Given the description of an element on the screen output the (x, y) to click on. 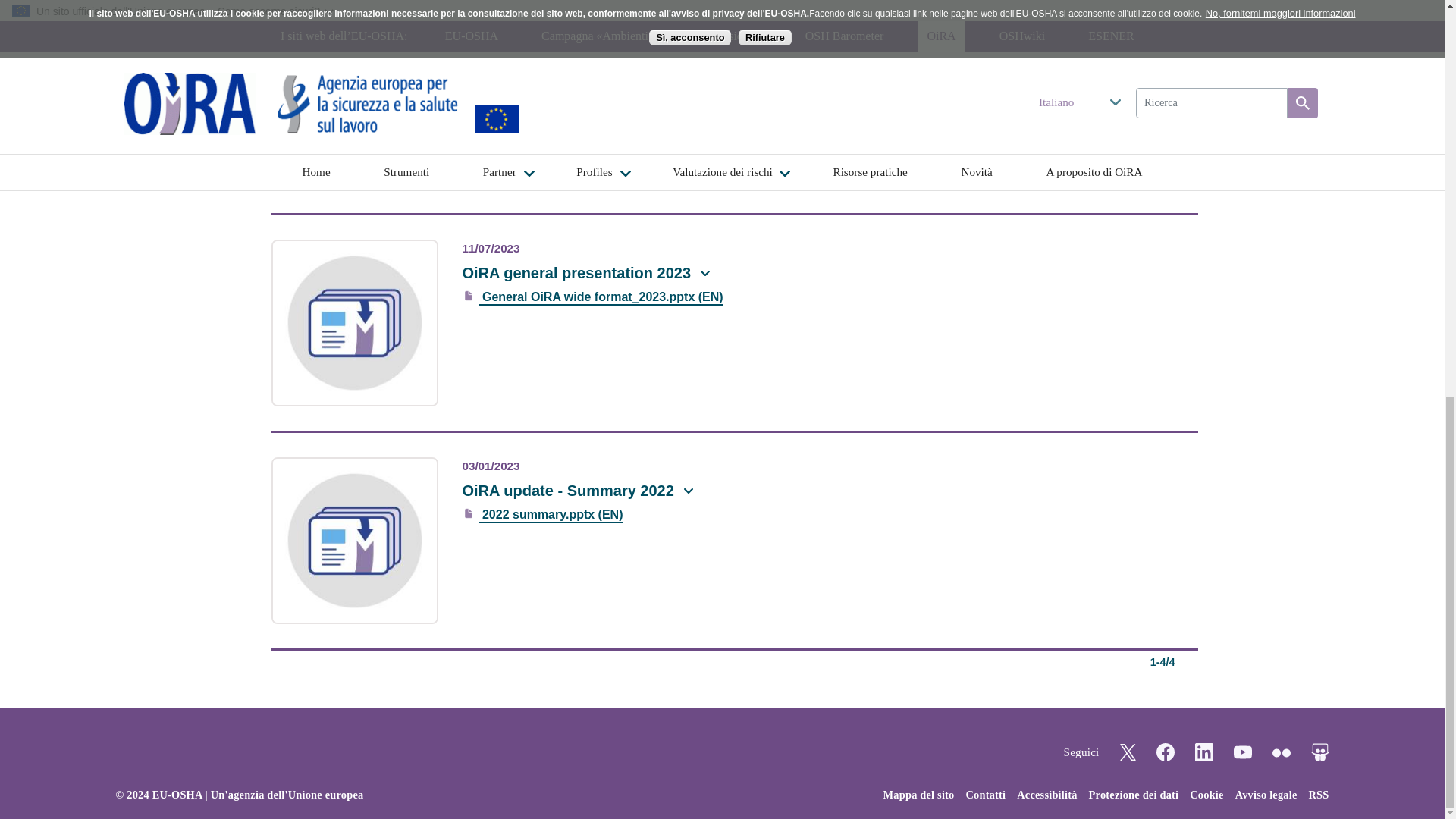
YouTube (1241, 751)
Twitter (1127, 751)
Slideshare (1318, 751)
LinkedIn (1203, 751)
Facebook (1164, 751)
Flickr (1281, 751)
